Given the description of an element on the screen output the (x, y) to click on. 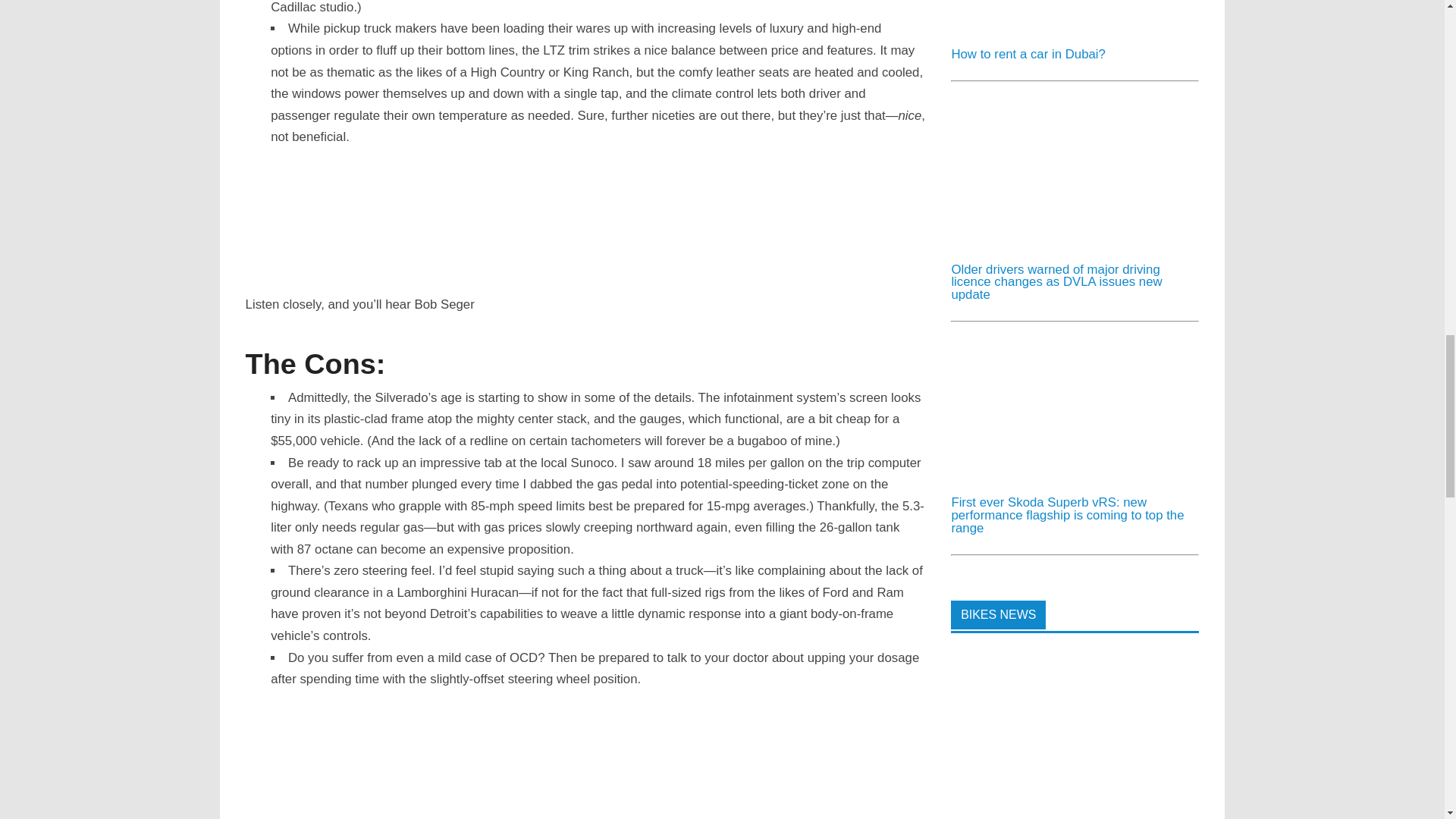
How to rent a car in Dubai? (1027, 53)
How to rent a car in Dubai? (1063, 28)
